Given the description of an element on the screen output the (x, y) to click on. 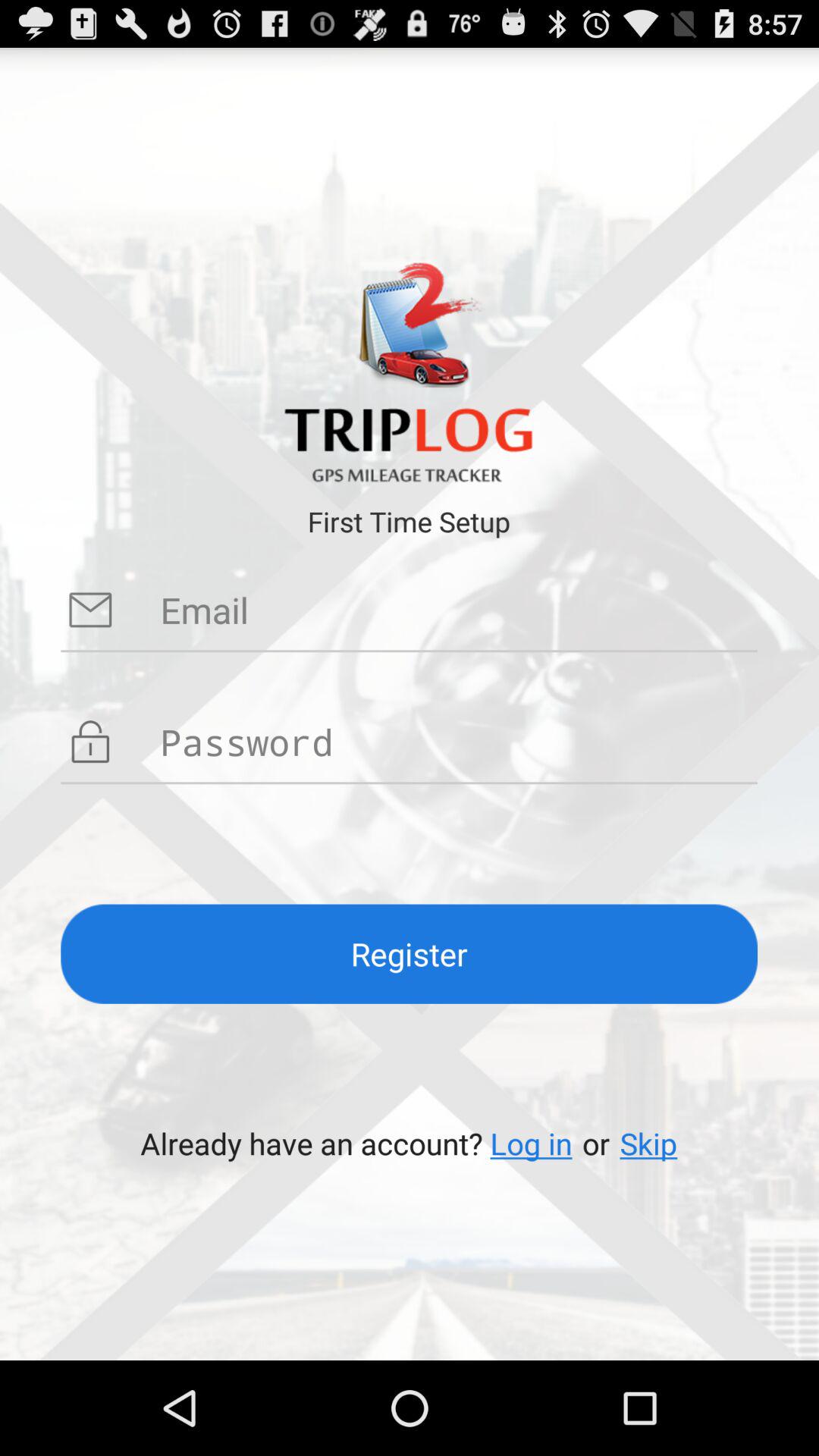
enter email (458, 609)
